Given the description of an element on the screen output the (x, y) to click on. 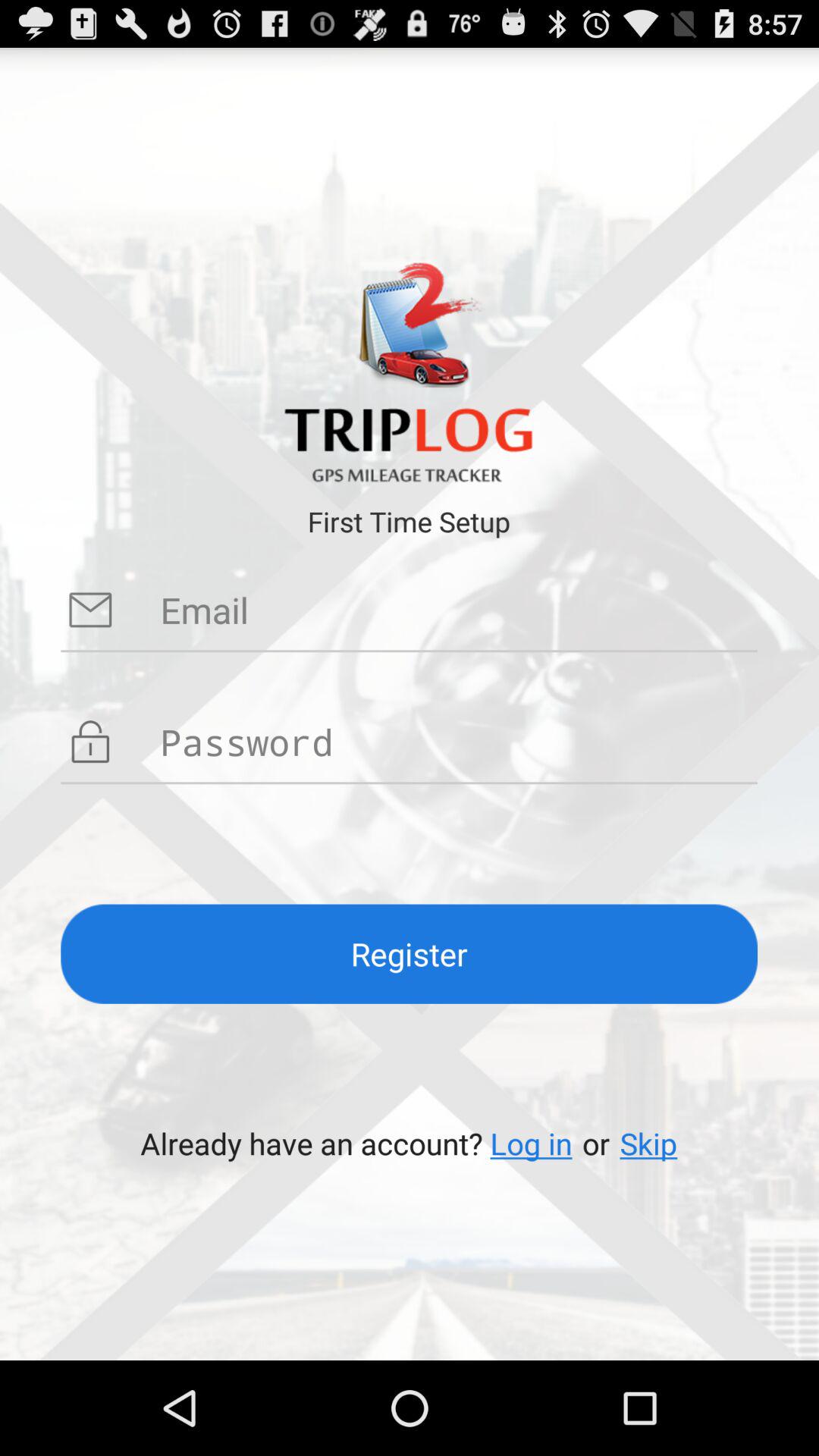
enter email (458, 609)
